Given the description of an element on the screen output the (x, y) to click on. 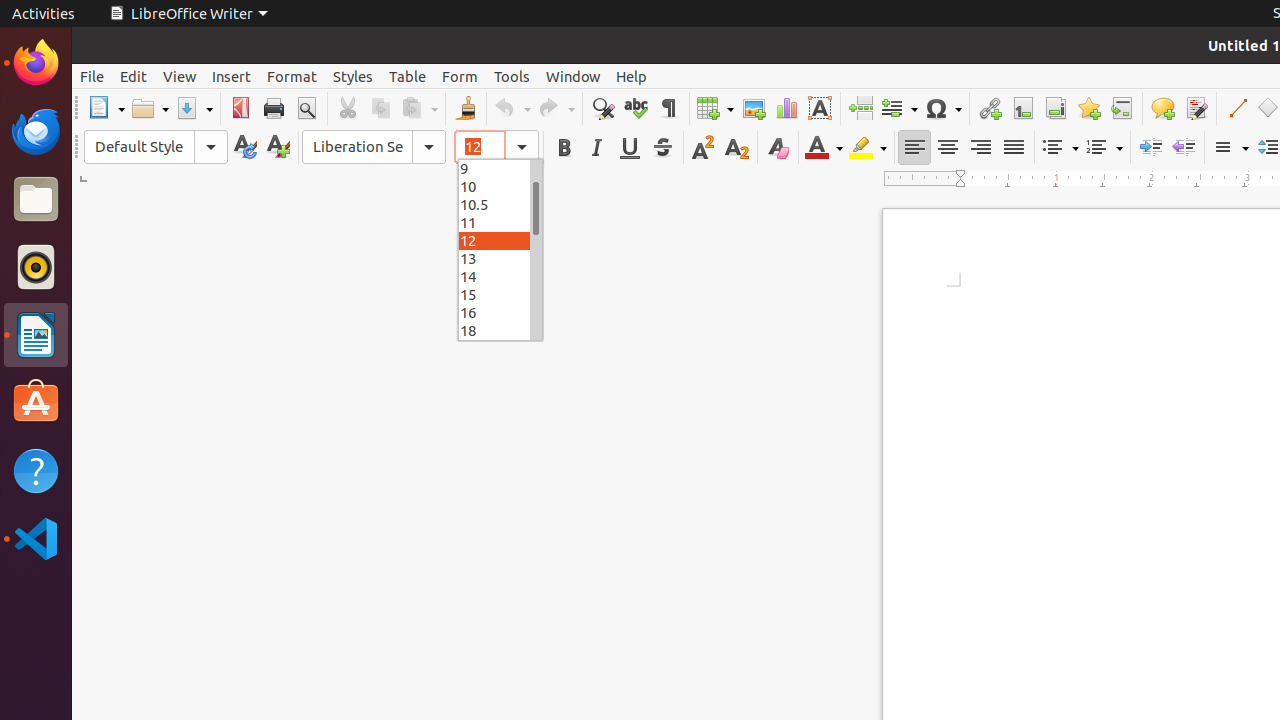
Help Element type: menu (631, 76)
Window Element type: menu (573, 76)
Clear Element type: push-button (777, 147)
Italic Element type: toggle-button (596, 147)
Field Element type: push-button (899, 108)
